Given the description of an element on the screen output the (x, y) to click on. 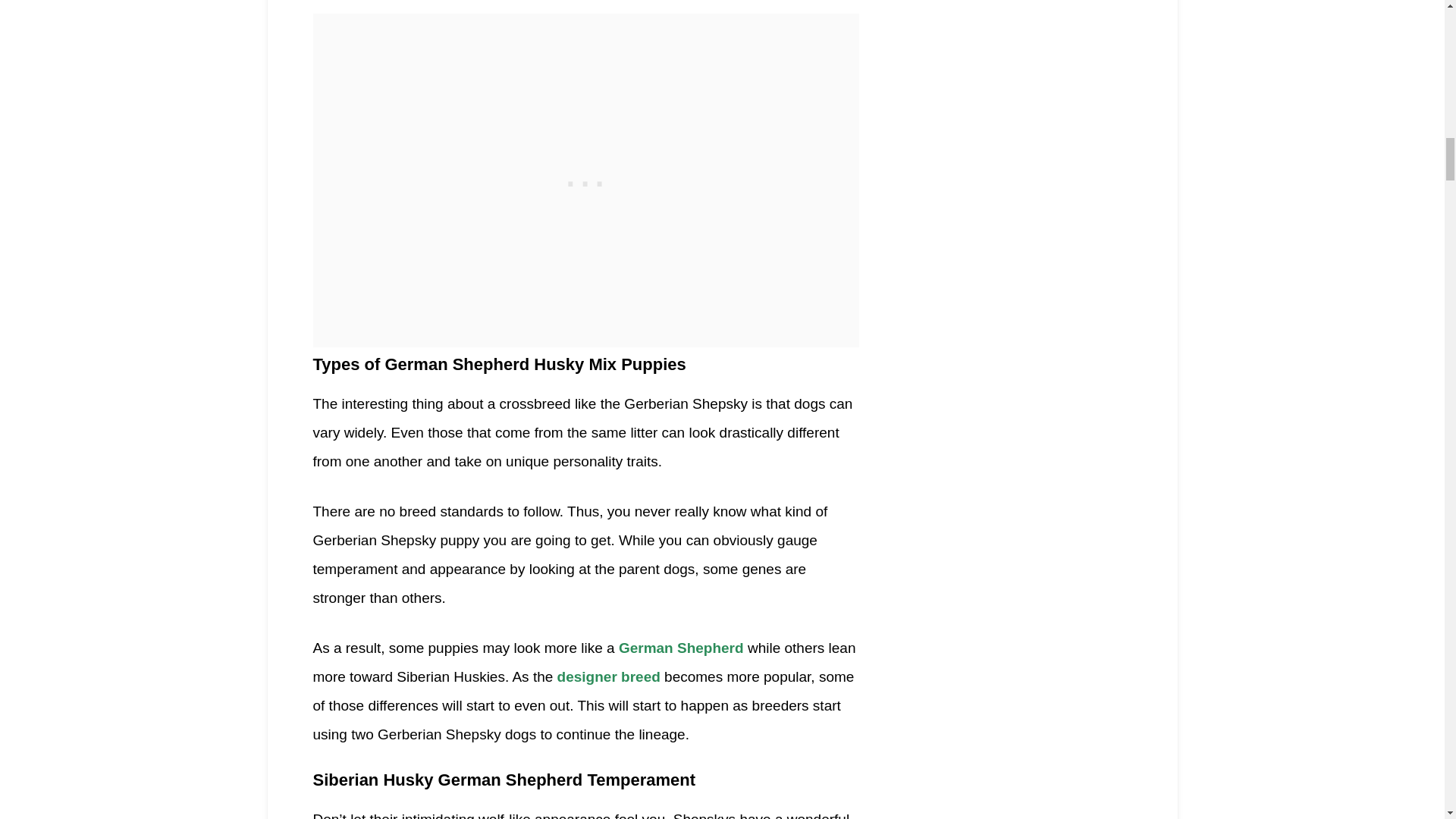
designer breed (609, 676)
designer breed (609, 676)
German Shepherd (681, 647)
